Given the description of an element on the screen output the (x, y) to click on. 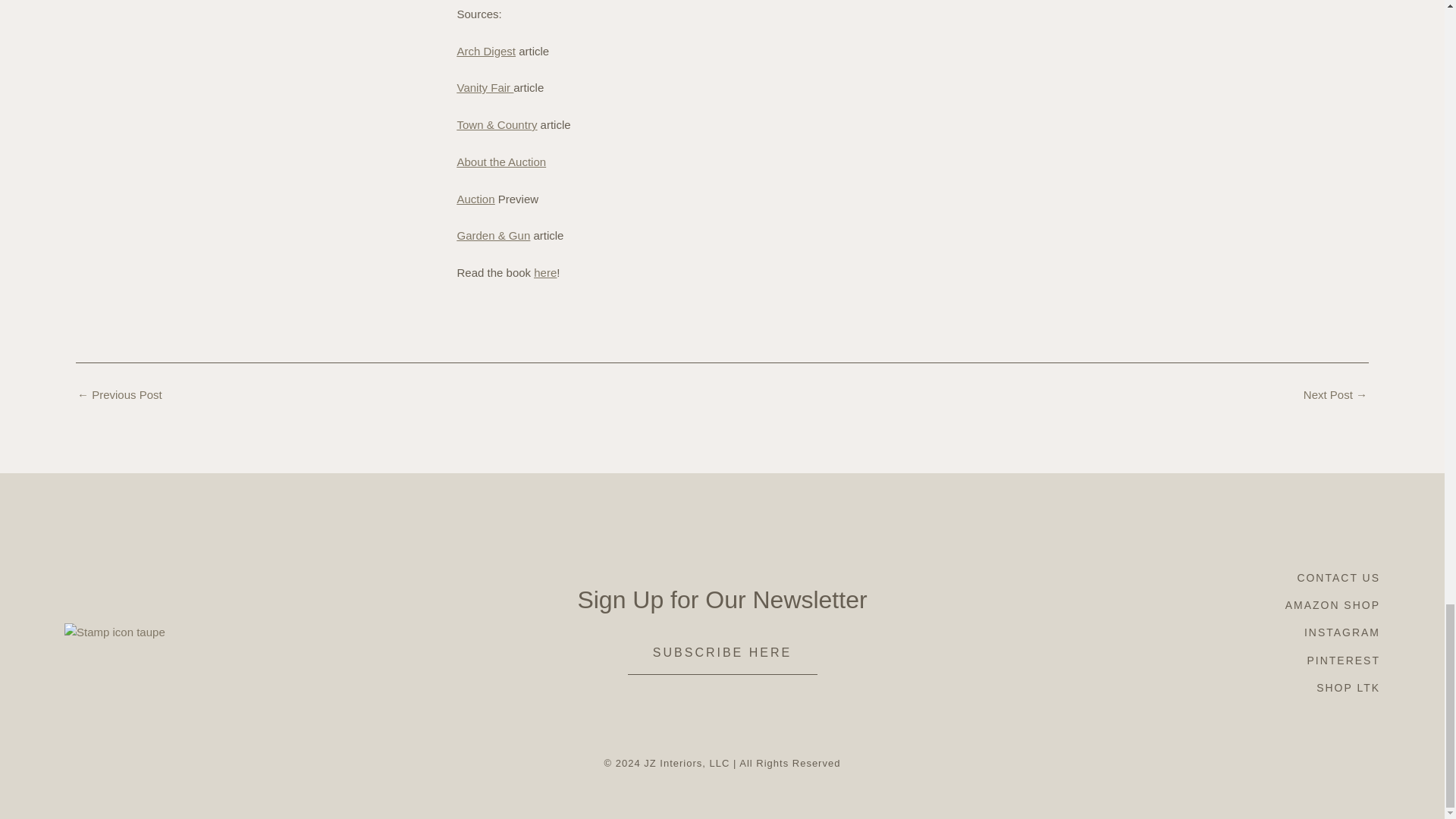
INSTAGRAM (1342, 632)
As Of Lately - May (1335, 394)
SHOP LTK (1348, 687)
Auction (476, 198)
About the Auction (501, 161)
CONTACT US (1338, 577)
here (545, 272)
Arch Digest (486, 50)
May Mood (119, 394)
PINTEREST (1343, 660)
